Given the description of an element on the screen output the (x, y) to click on. 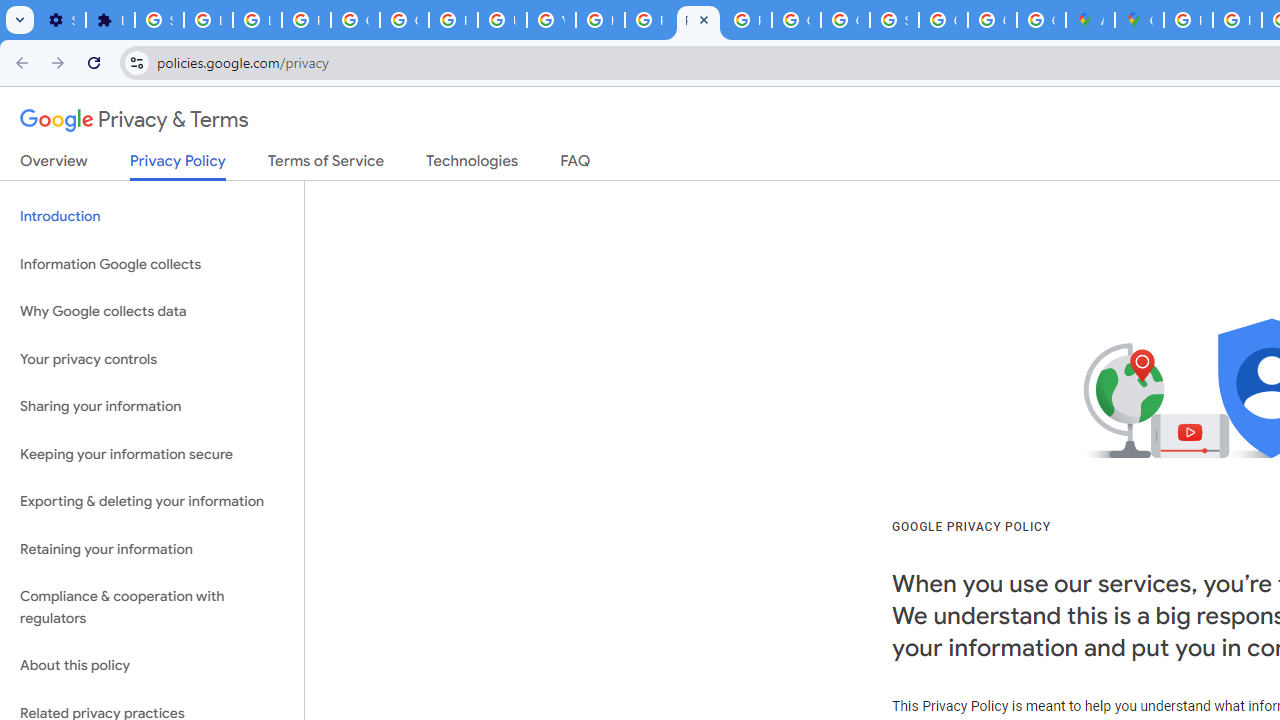
Sharing your information (152, 407)
Overview (54, 165)
Settings - On startup (61, 20)
Google Account Help (404, 20)
YouTube (551, 20)
About this policy (152, 666)
Retaining your information (152, 548)
Privacy Help Center - Policies Help (1237, 20)
Delete photos & videos - Computer - Google Photos Help (208, 20)
Your privacy controls (152, 358)
